Given the description of an element on the screen output the (x, y) to click on. 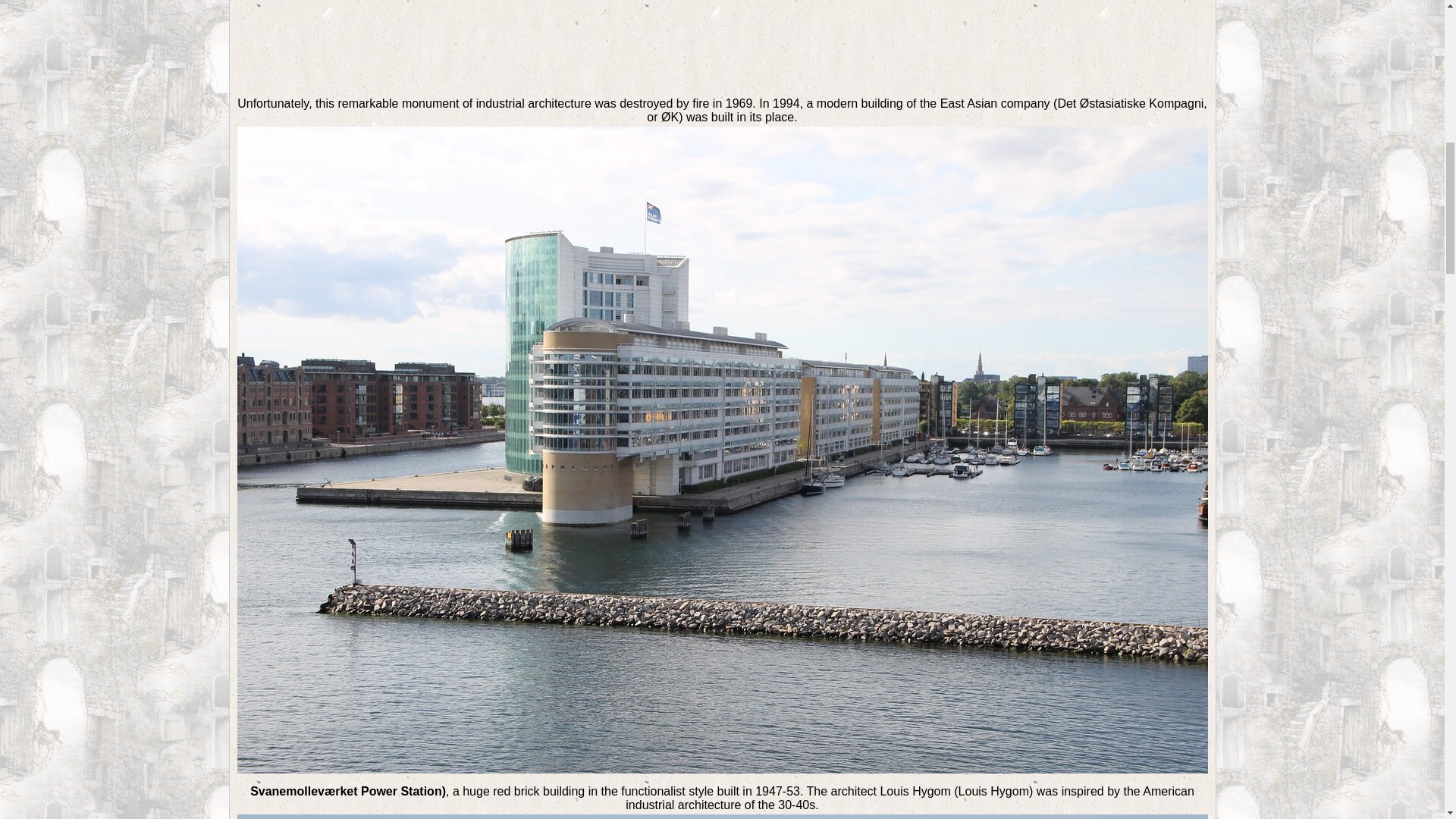
Copenhagen. Midtermolen Pier. Midtermolen pier. Copenhagen (722, 42)
